Given the description of an element on the screen output the (x, y) to click on. 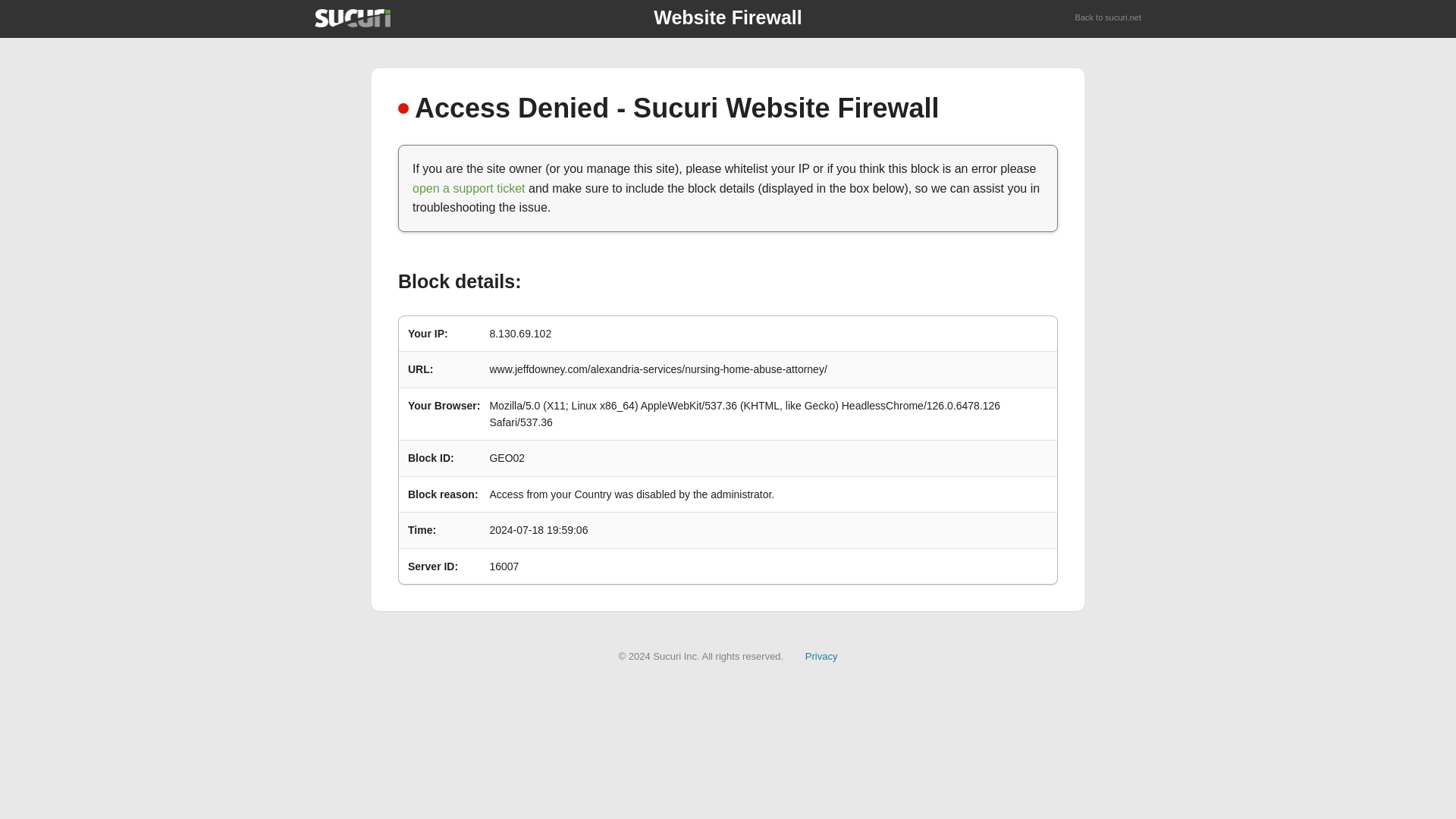
Back to sucuri.net (1108, 18)
open a support ticket (468, 187)
Privacy (821, 655)
